Given the description of an element on the screen output the (x, y) to click on. 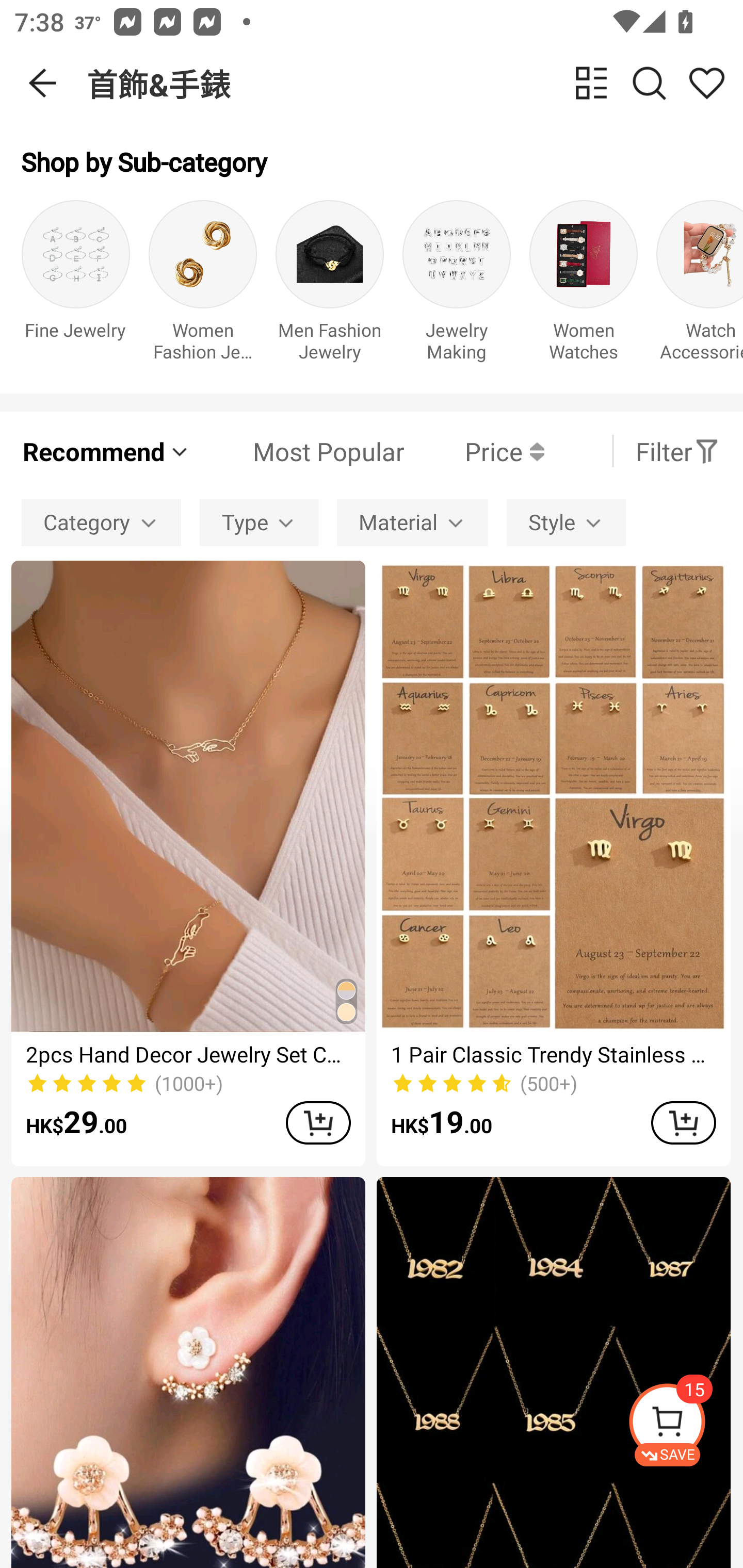
首飾&手錶 change view Search Share (414, 82)
change view (591, 82)
Search (648, 82)
Share (706, 82)
Fine Jewelry (75, 285)
Women Fashion Jewelry (202, 285)
Men Fashion Jewelry (329, 285)
Jewelry Making (456, 285)
Women Watches (583, 285)
Watch Accessories & Tools (699, 285)
Recommend (106, 450)
Most Popular (297, 450)
Price (474, 450)
Filter (677, 450)
Category (101, 521)
Type (258, 521)
Material (412, 521)
Style (565, 521)
ADD TO CART (318, 1122)
ADD TO CART (683, 1122)
SAVE (685, 1424)
